Given the description of an element on the screen output the (x, y) to click on. 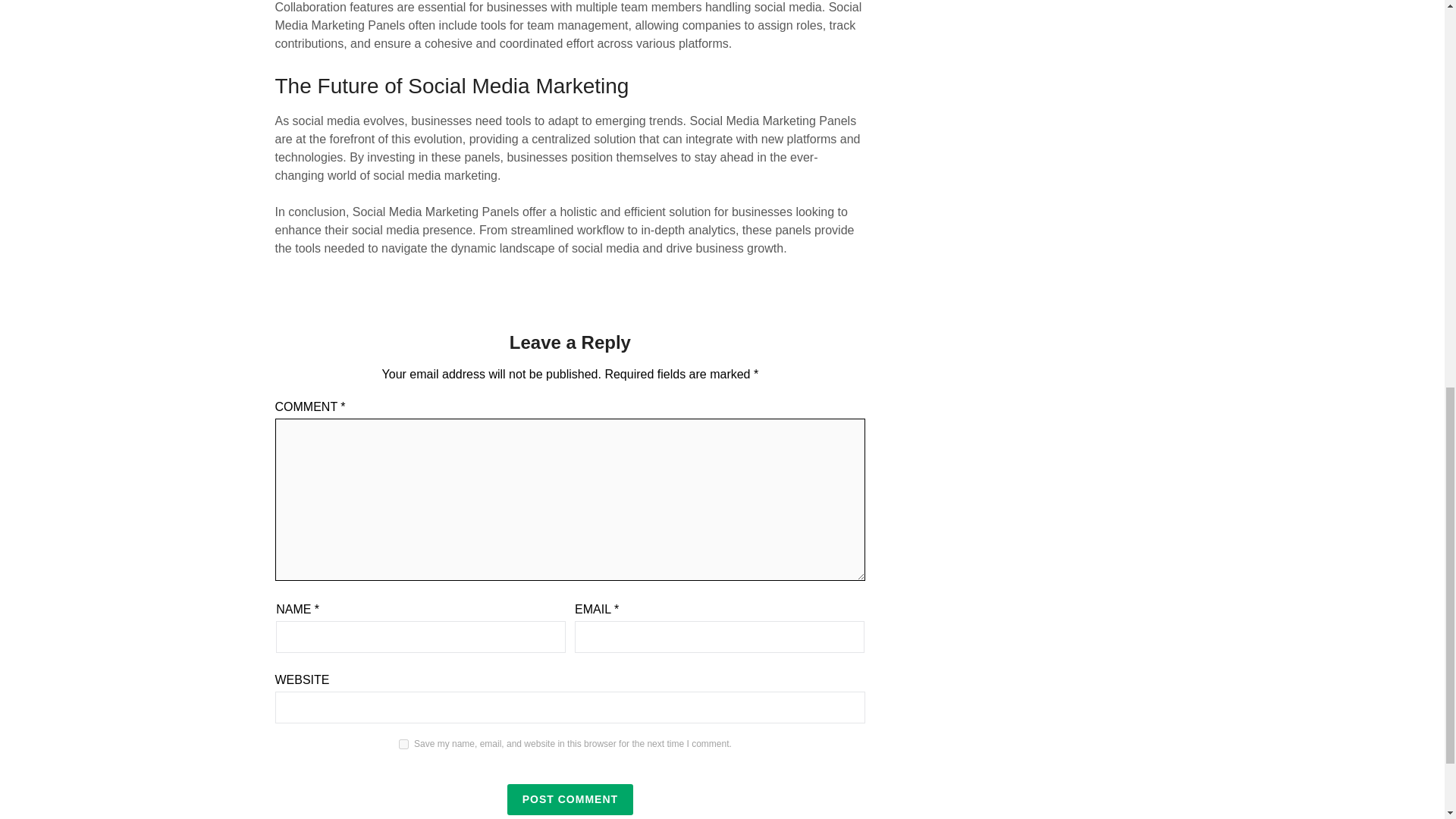
Post Comment (569, 798)
yes (403, 744)
Post Comment (569, 798)
